Given the description of an element on the screen output the (x, y) to click on. 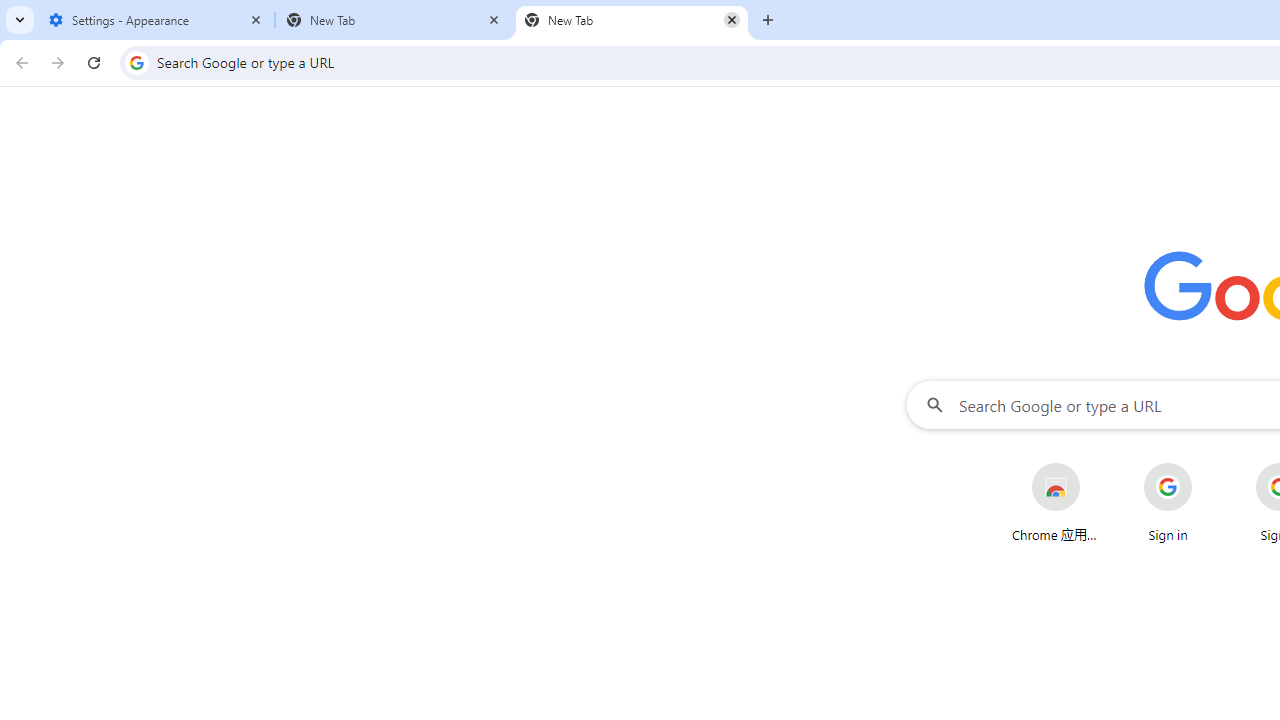
Settings - Appearance (156, 20)
More actions for Sign in shortcut (1208, 464)
New Tab (632, 20)
